Given the description of an element on the screen output the (x, y) to click on. 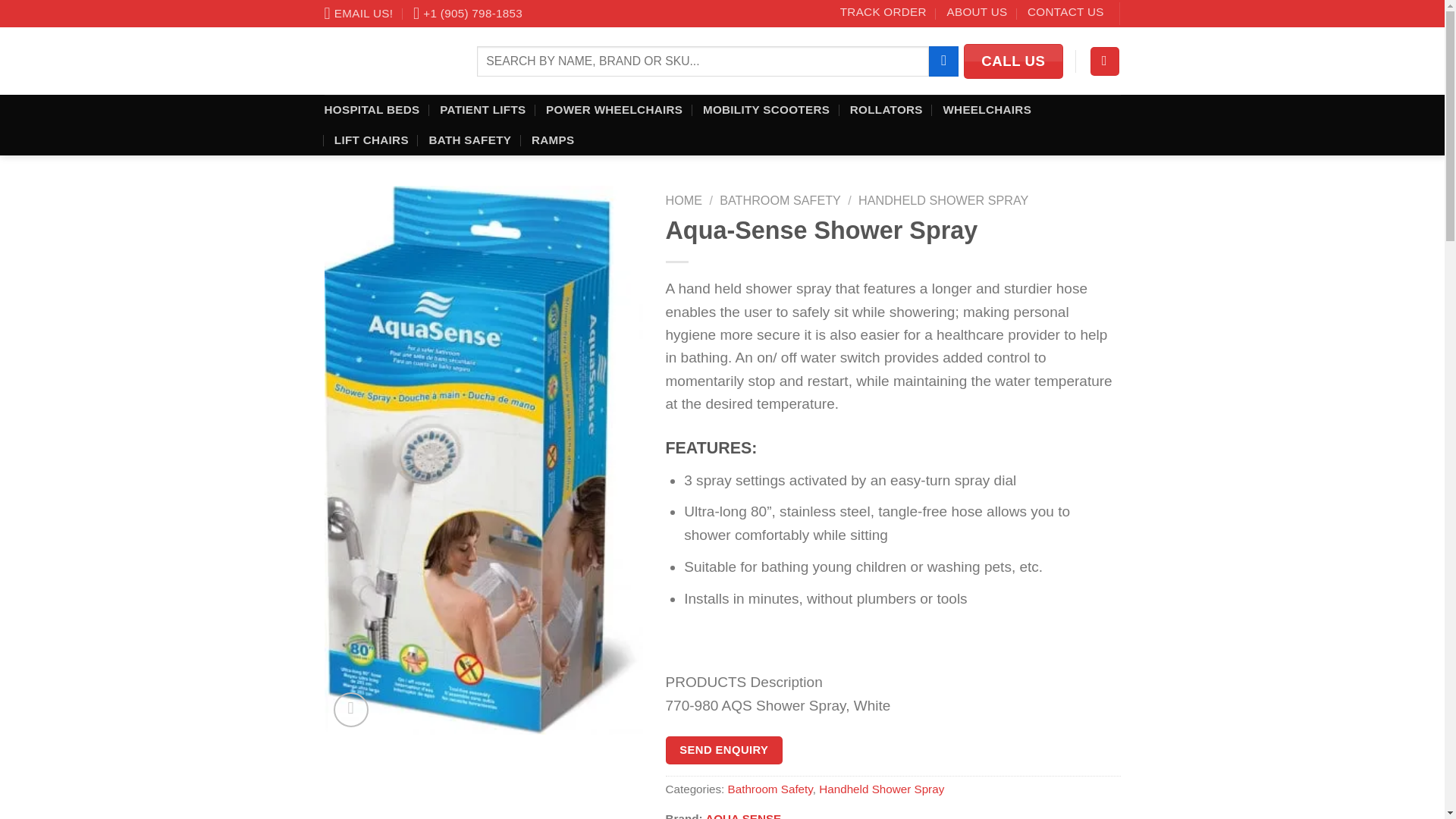
HOME (684, 200)
BATHROOM SAFETY (780, 200)
CONTACT US (1065, 12)
LIFT CHAIRS (371, 140)
BATH SAFETY (469, 140)
HANDHELD SHOWER SPRAY (943, 200)
EMAIL US! (358, 13)
RAMPS (552, 140)
SEND ENQUIRY (724, 750)
Login (1104, 61)
